Given the description of an element on the screen output the (x, y) to click on. 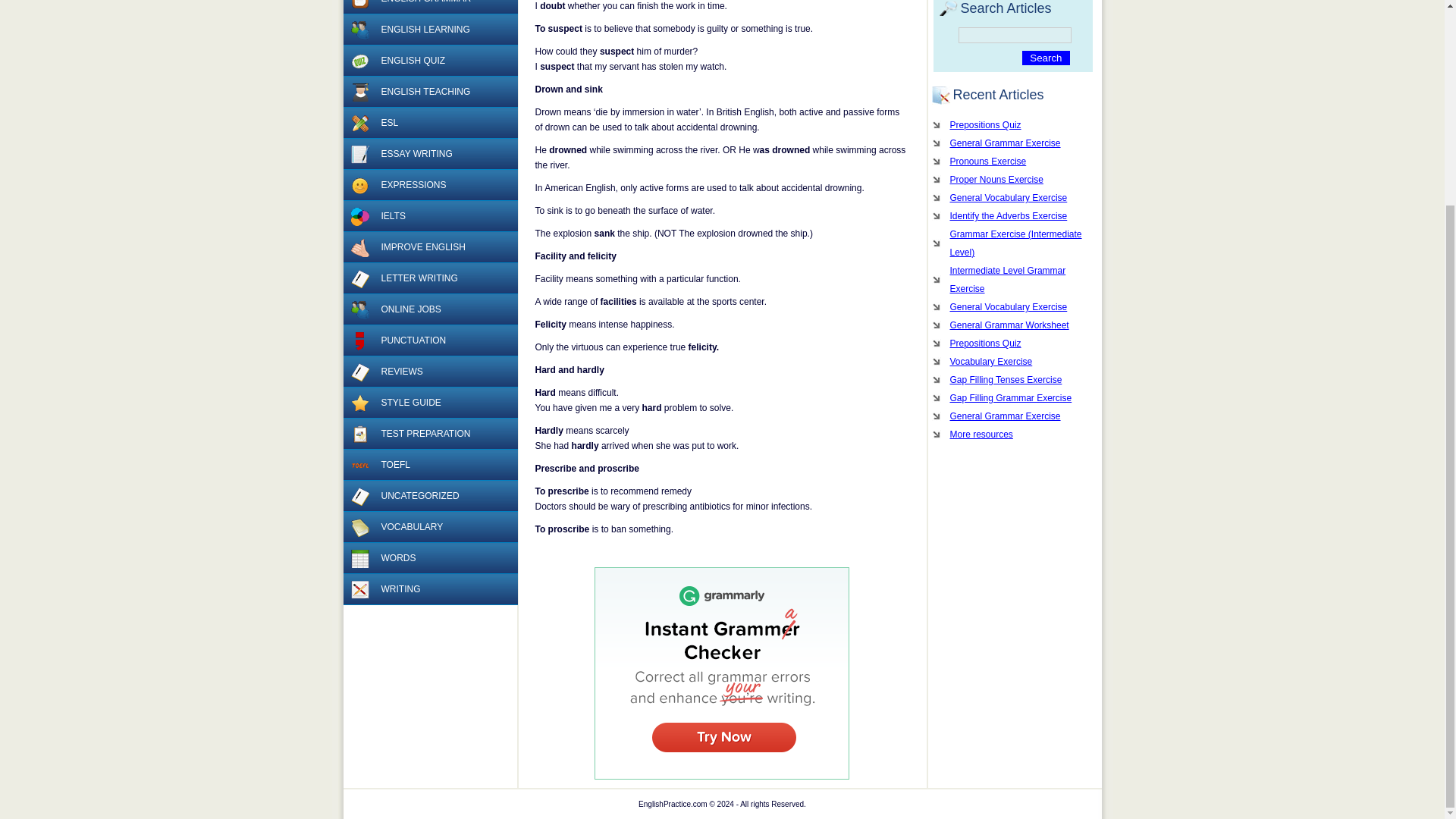
IELTS (429, 215)
Search (1045, 57)
Intermediate Level Grammar Exercise (1012, 279)
ENGLISH QUIZ (429, 60)
ENGLISH LEARNING (429, 29)
IELTS (359, 217)
UNCATEGORIZED (429, 495)
ONLINE JOBS (429, 309)
Essay Writing (359, 154)
Pronouns Exercise (1012, 161)
